Given the description of an element on the screen output the (x, y) to click on. 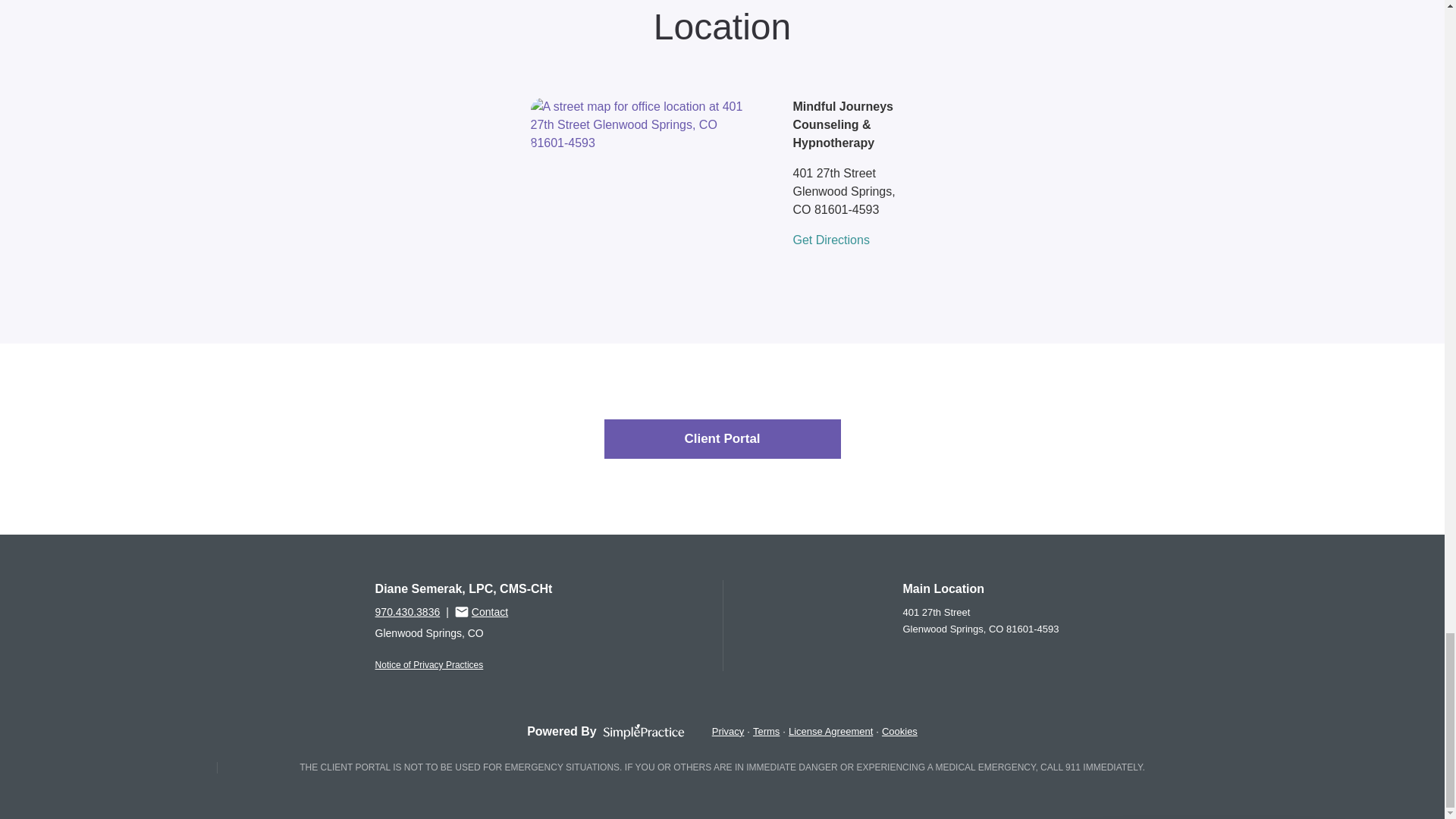
License Agreement (830, 731)
Client Portal (722, 438)
Cookies (899, 731)
Get Directions (831, 239)
Notice of Privacy Practices (429, 665)
Privacy (727, 731)
Terms (765, 731)
970.430.3836 (408, 612)
Contact (481, 611)
